Given the description of an element on the screen output the (x, y) to click on. 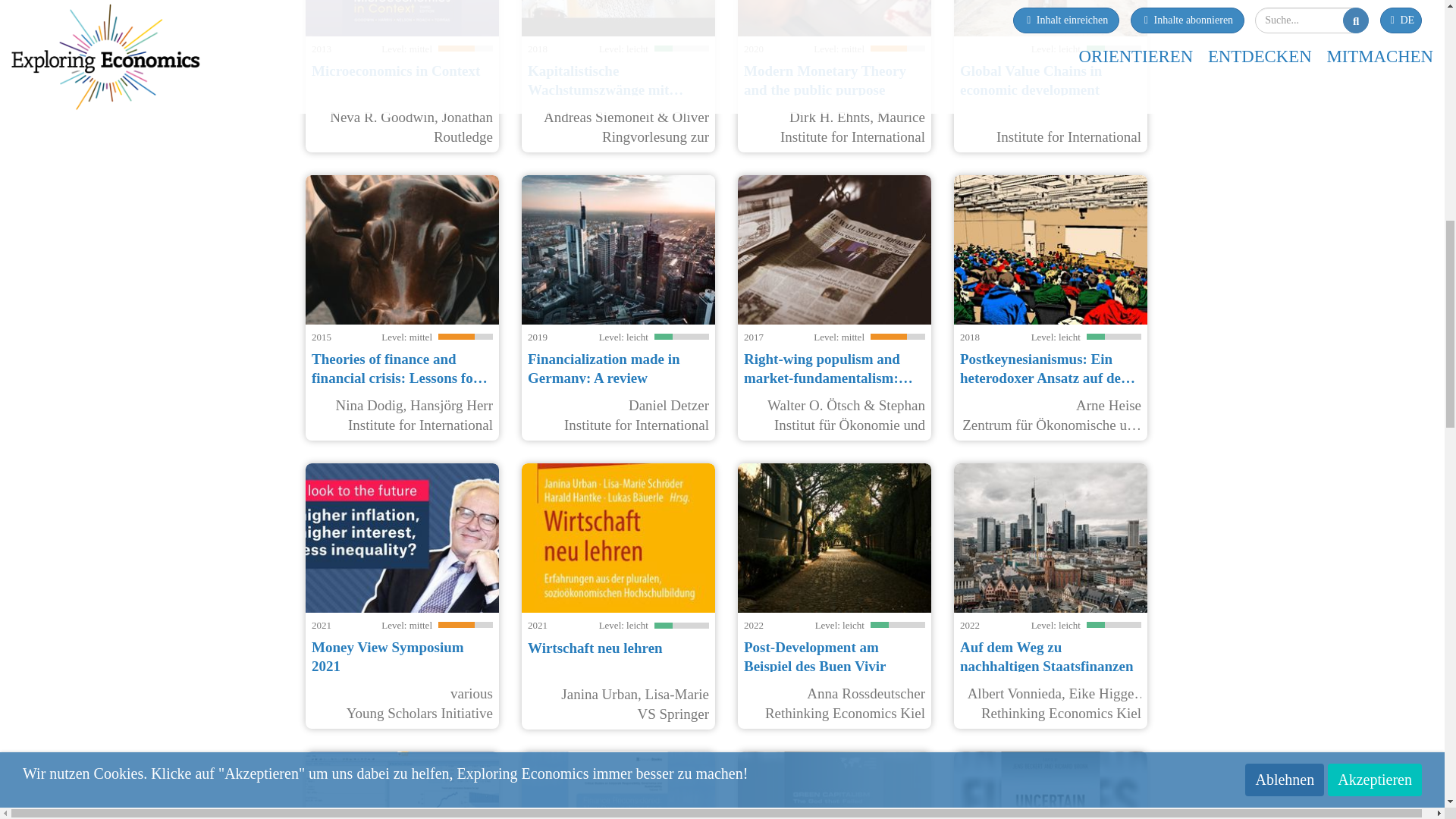
Microeconomics in Context (395, 70)
